Given the description of an element on the screen output the (x, y) to click on. 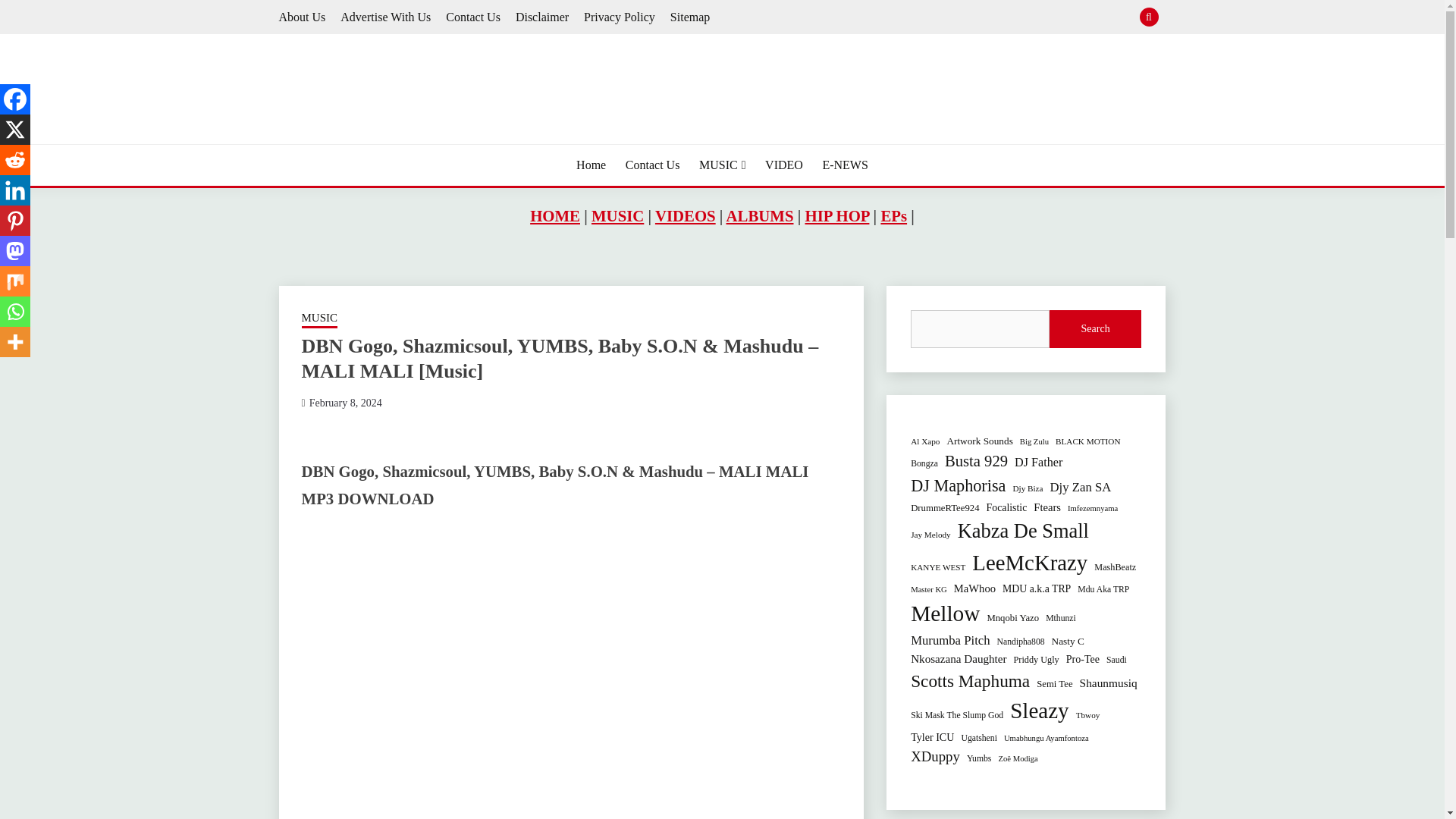
HOME (554, 215)
Contact Us (652, 165)
X (15, 129)
MUSIC (721, 165)
Home (590, 165)
Search (832, 18)
Contact Us (472, 16)
MUSIC (319, 319)
Privacy Policy (619, 16)
February 8, 2024 (344, 402)
Sitemap (689, 16)
OKAYTUNE (355, 142)
VIDEO (784, 165)
About Us (302, 16)
E-NEWS (844, 165)
